Given the description of an element on the screen output the (x, y) to click on. 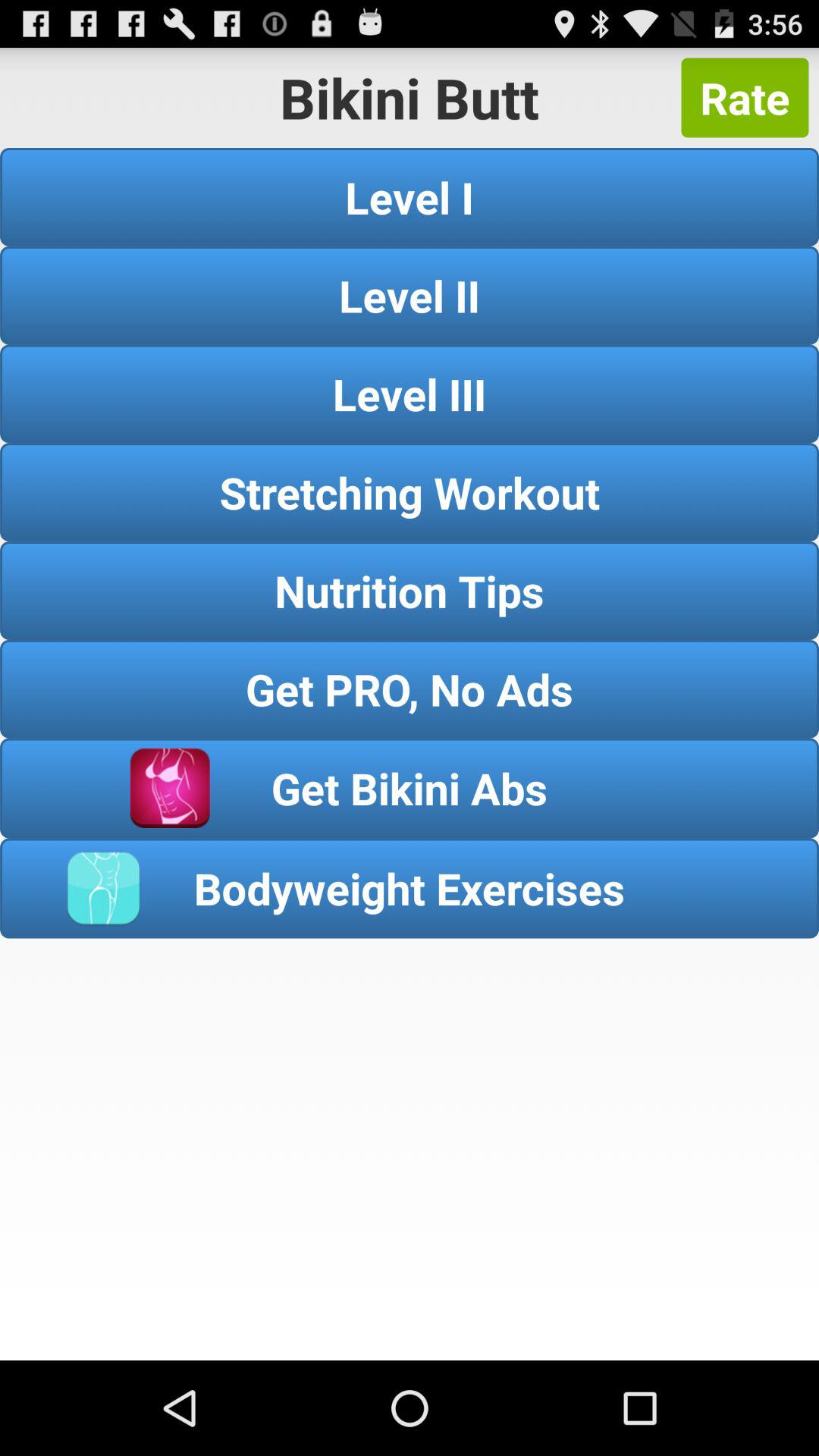
select button below the level ii icon (409, 393)
